Given the description of an element on the screen output the (x, y) to click on. 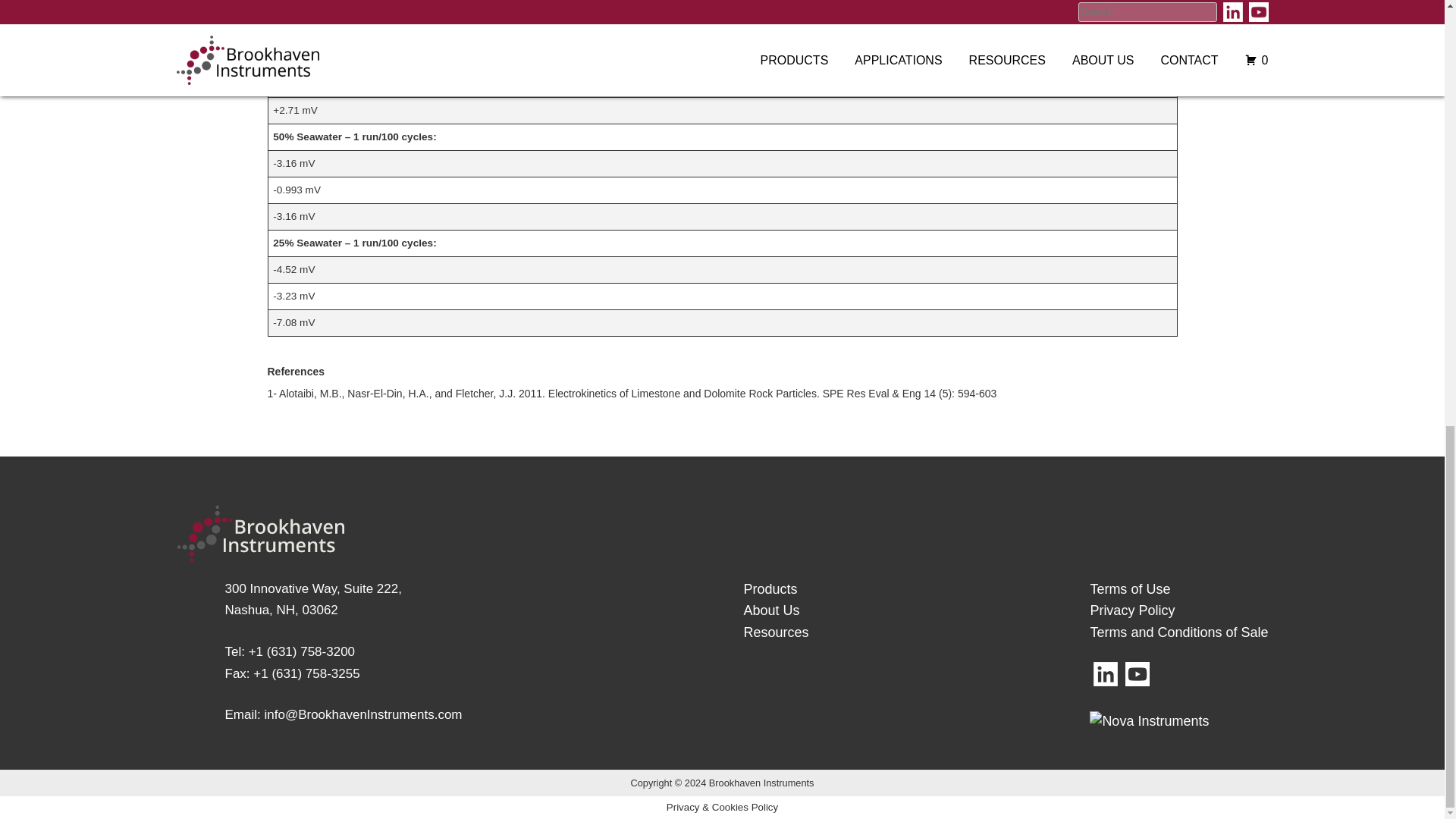
Products (312, 599)
About Us (769, 589)
Resources (770, 610)
Terms of Use (775, 631)
